Given the description of an element on the screen output the (x, y) to click on. 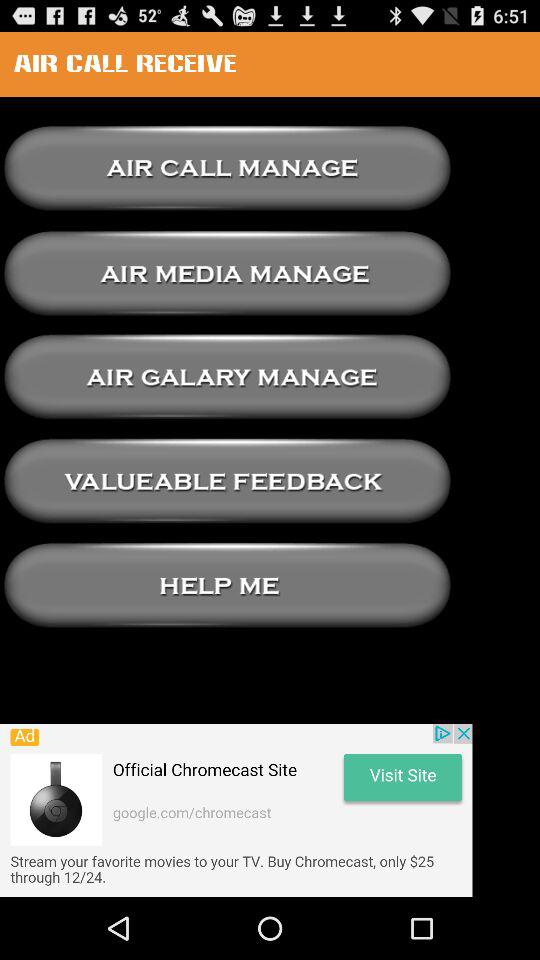
go to add button (236, 810)
